Given the description of an element on the screen output the (x, y) to click on. 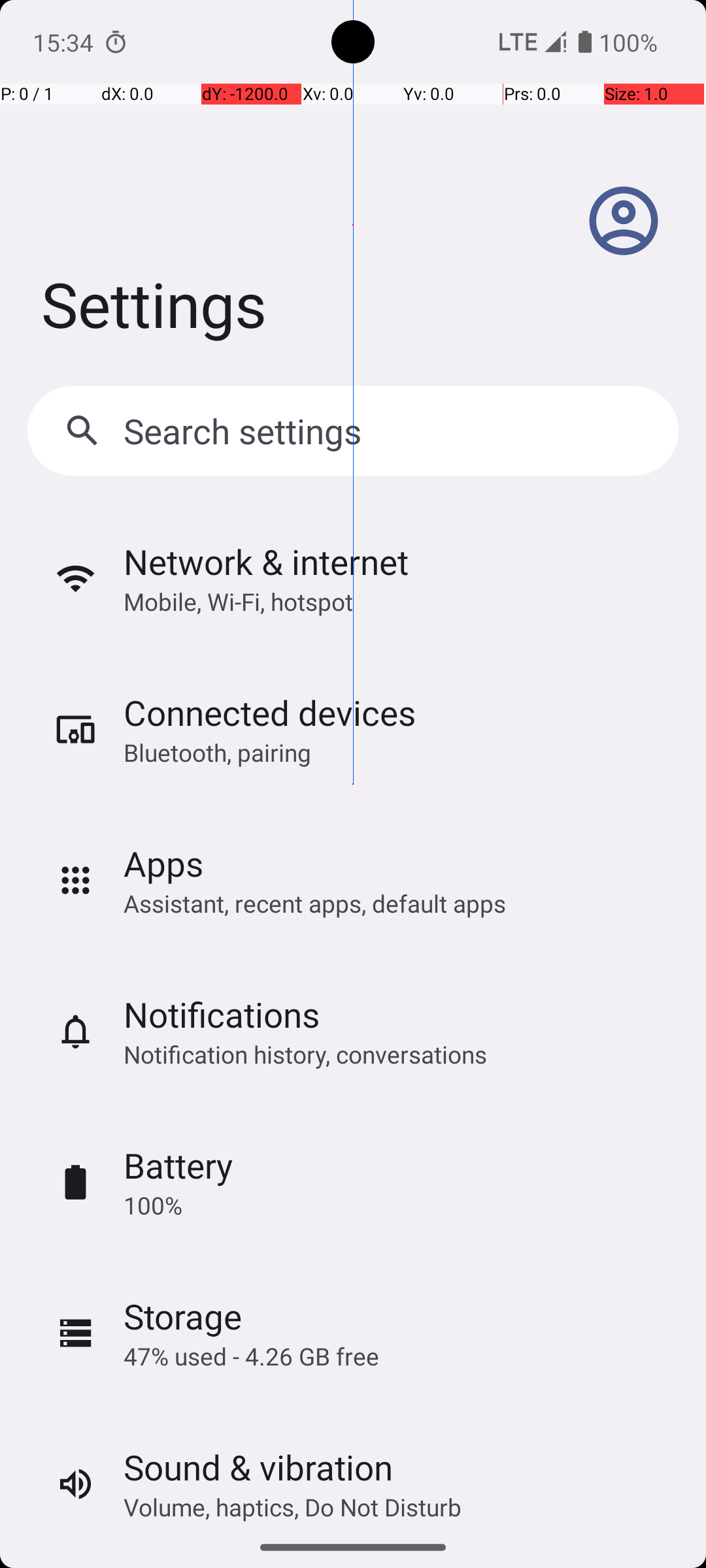
47% used - 4.26 GB free Element type: android.widget.TextView (251, 1355)
